Given the description of an element on the screen output the (x, y) to click on. 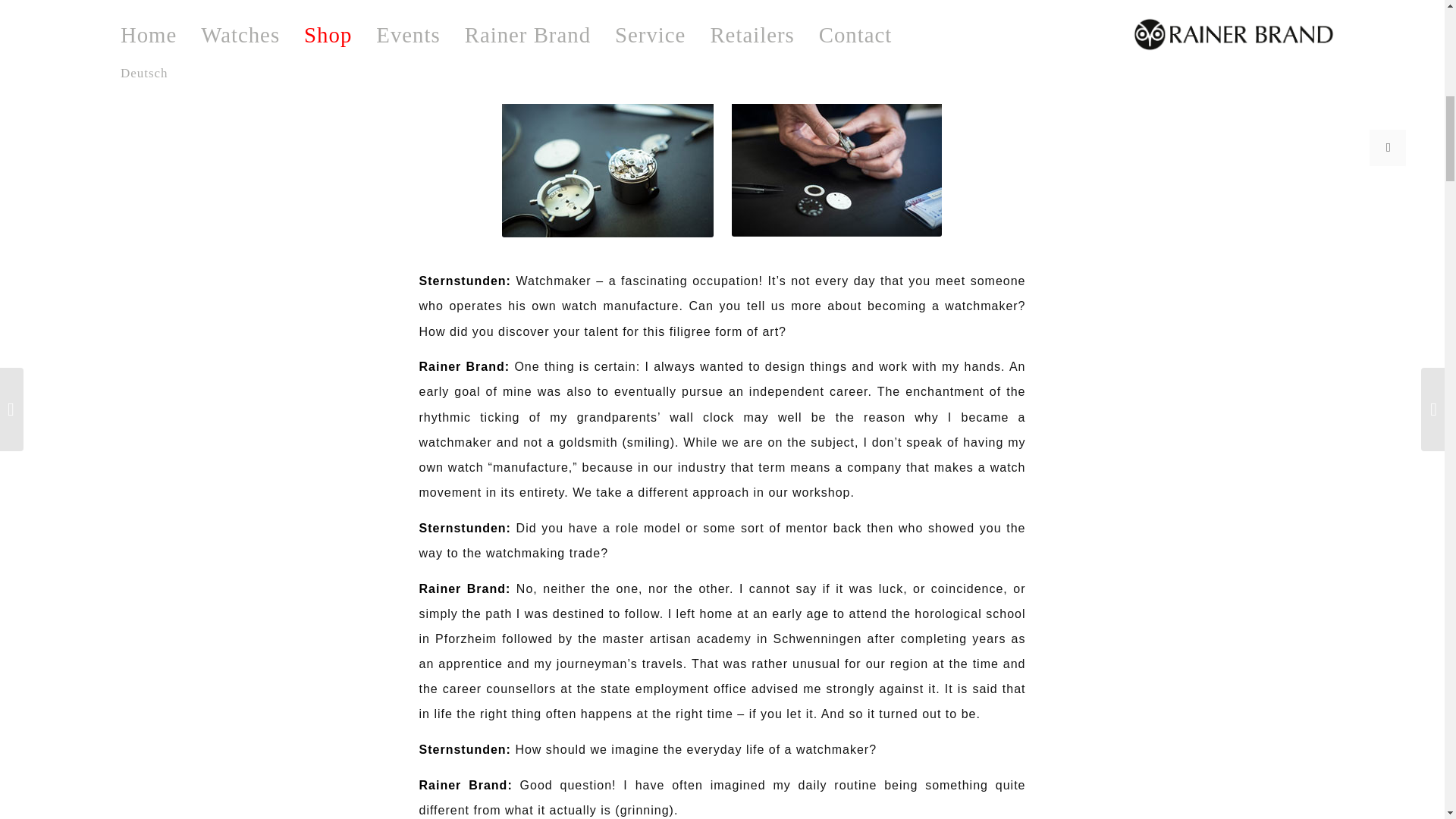
sternstunden-en-1 (607, 166)
sternstunden-en-2 (835, 166)
